Given the description of an element on the screen output the (x, y) to click on. 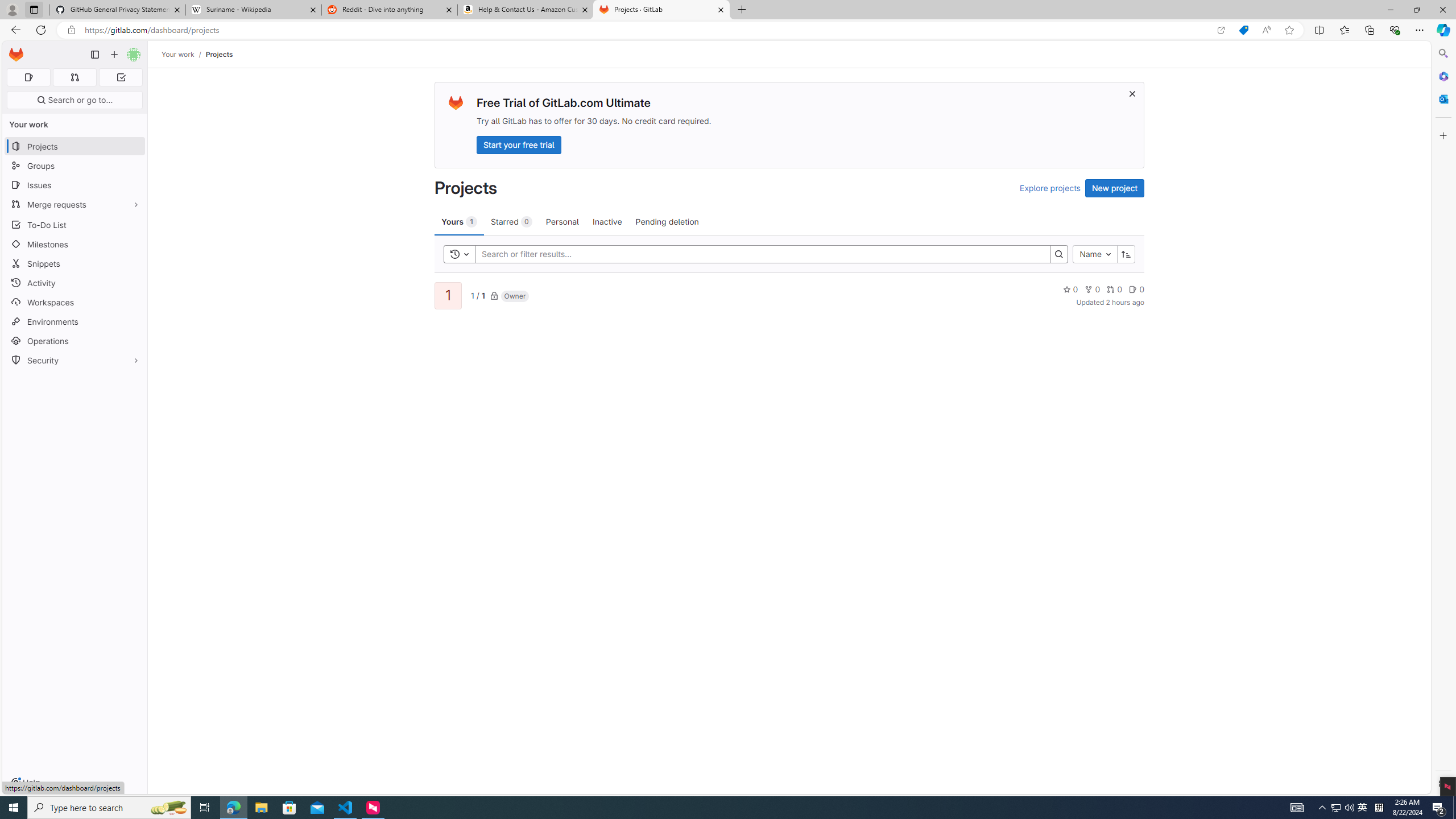
Personal (561, 221)
Groups (74, 165)
Merge requests 0 (74, 76)
Security (74, 359)
To-Do List (74, 224)
Class: s14 gl-mr-2 (1132, 289)
Starred 0 (510, 221)
